Given the description of an element on the screen output the (x, y) to click on. 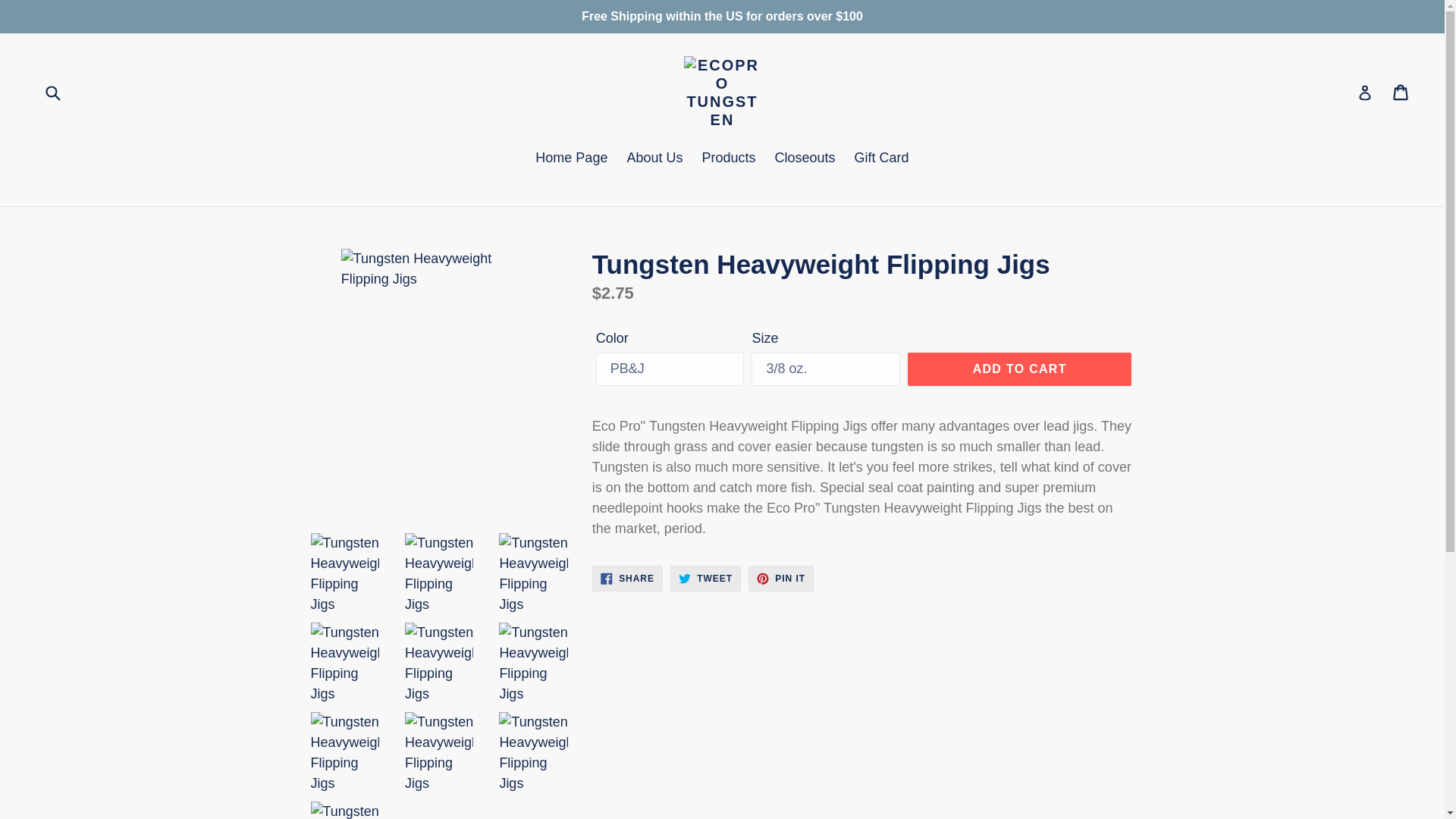
Pin on Pinterest (780, 578)
Gift Card (882, 159)
ADD TO CART (1019, 368)
Log in (1364, 92)
Share on Facebook (705, 578)
About Us (627, 578)
Cart (654, 159)
Closeouts (627, 578)
Submit (1401, 92)
Home Page (805, 159)
Tweet on Twitter (52, 92)
Products (570, 159)
